Given the description of an element on the screen output the (x, y) to click on. 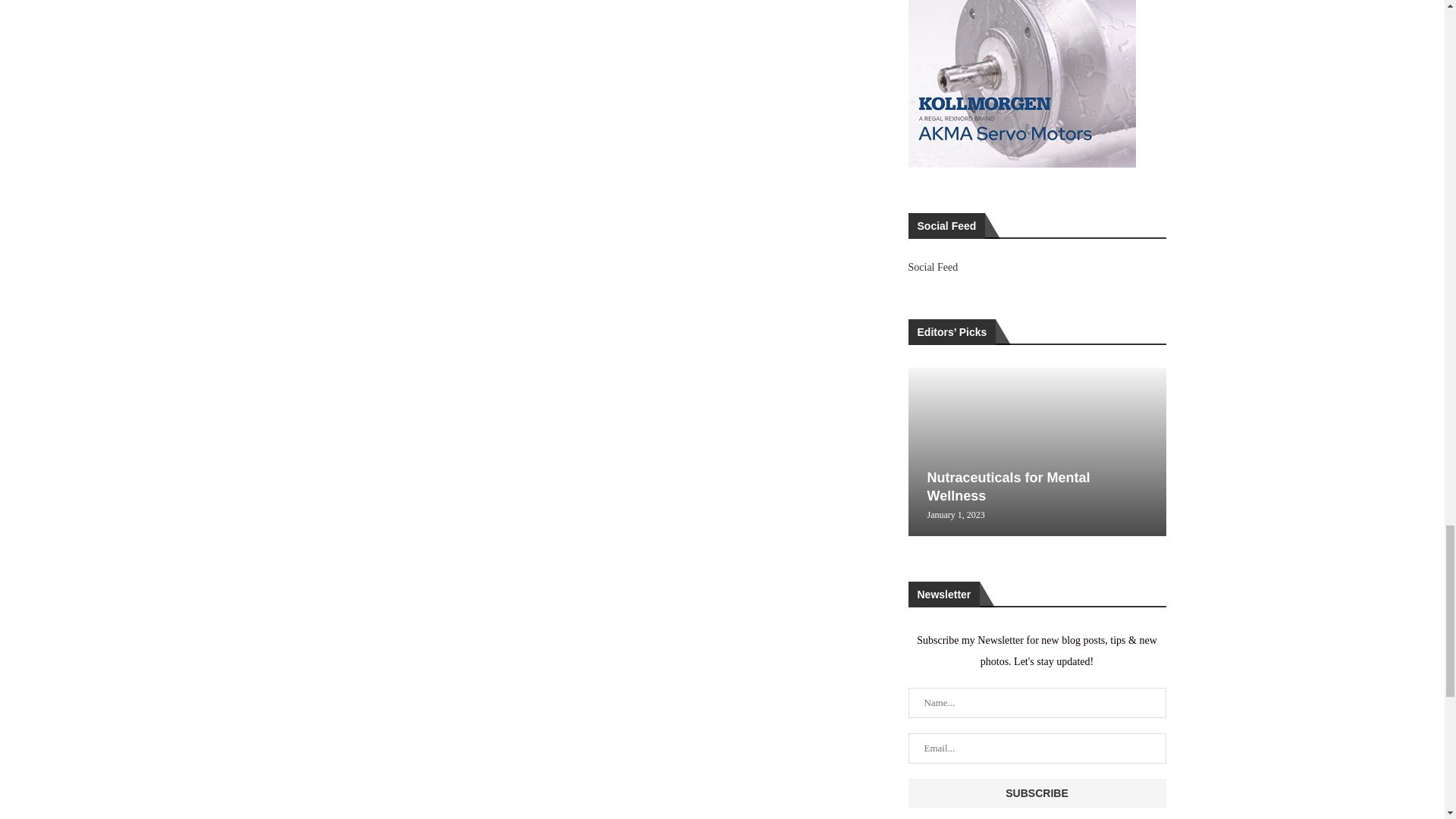
Subscribe (1037, 792)
Nutraceuticals for Mental Wellness (1034, 451)
Nutraceuticals for Mental Wellness (1007, 486)
